Given the description of an element on the screen output the (x, y) to click on. 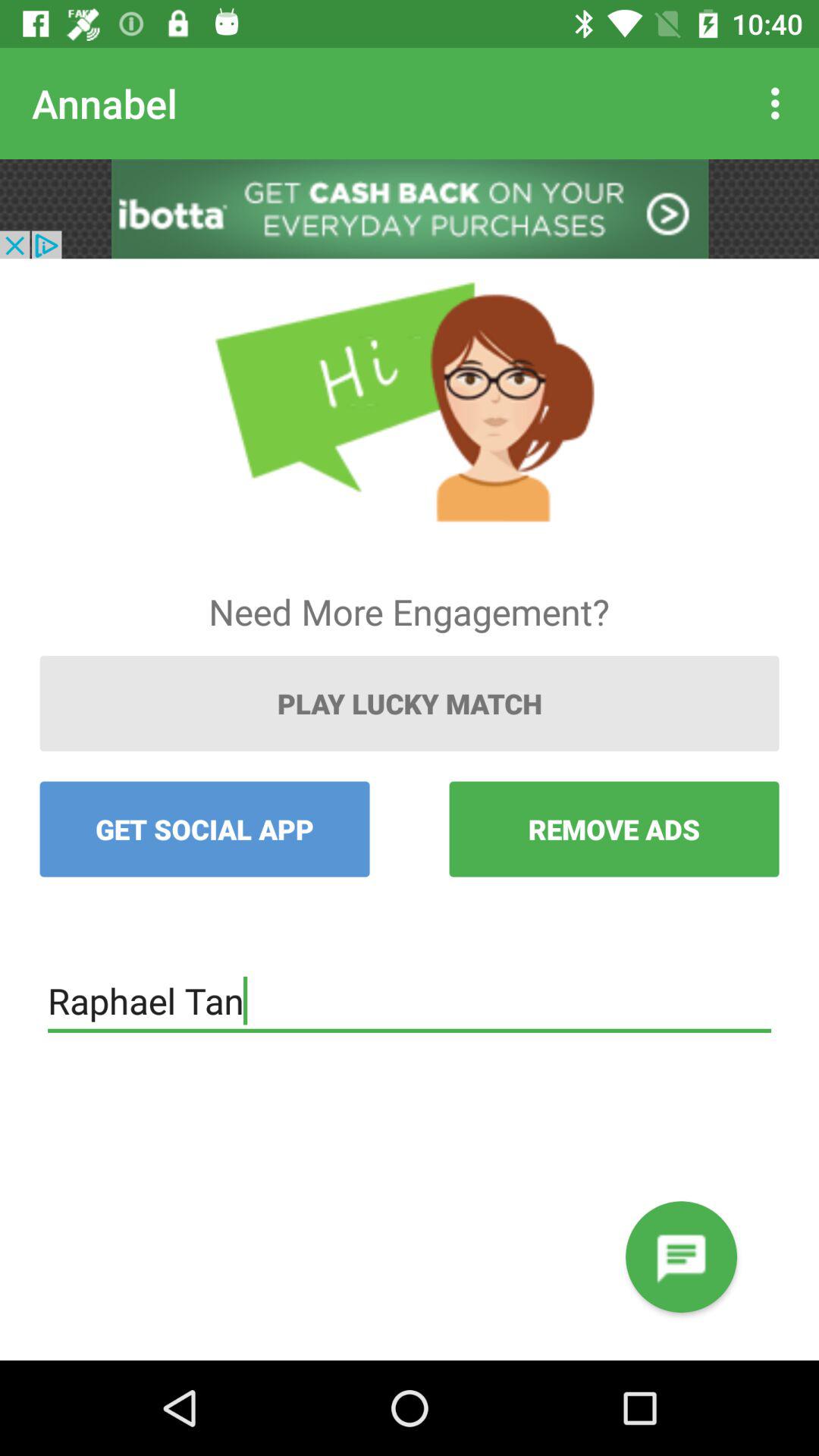
advertisement (409, 208)
